Given the description of an element on the screen output the (x, y) to click on. 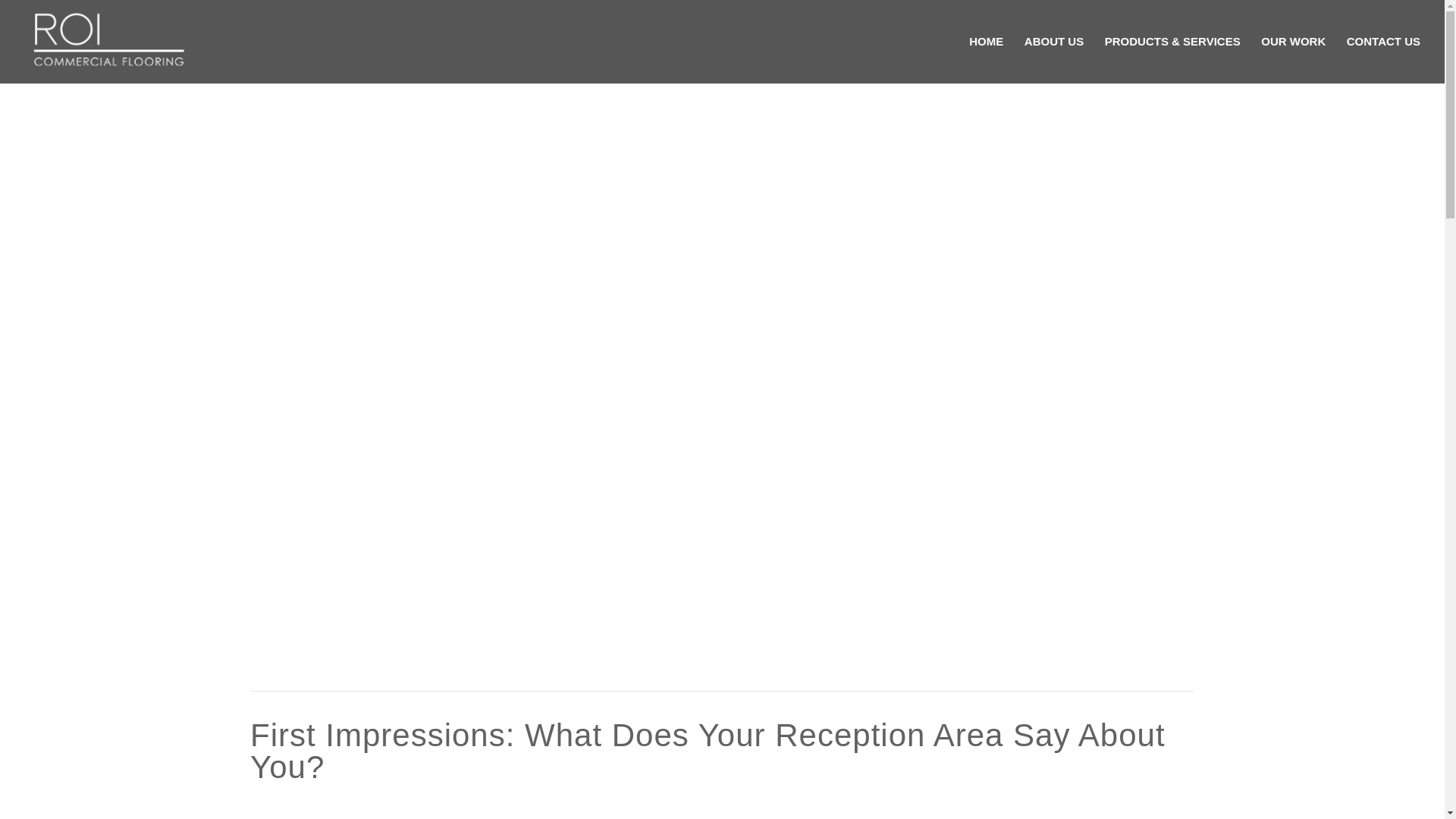
CONTACT US (1383, 59)
ABOUT US (1054, 59)
OUR WORK (1292, 59)
